Given the description of an element on the screen output the (x, y) to click on. 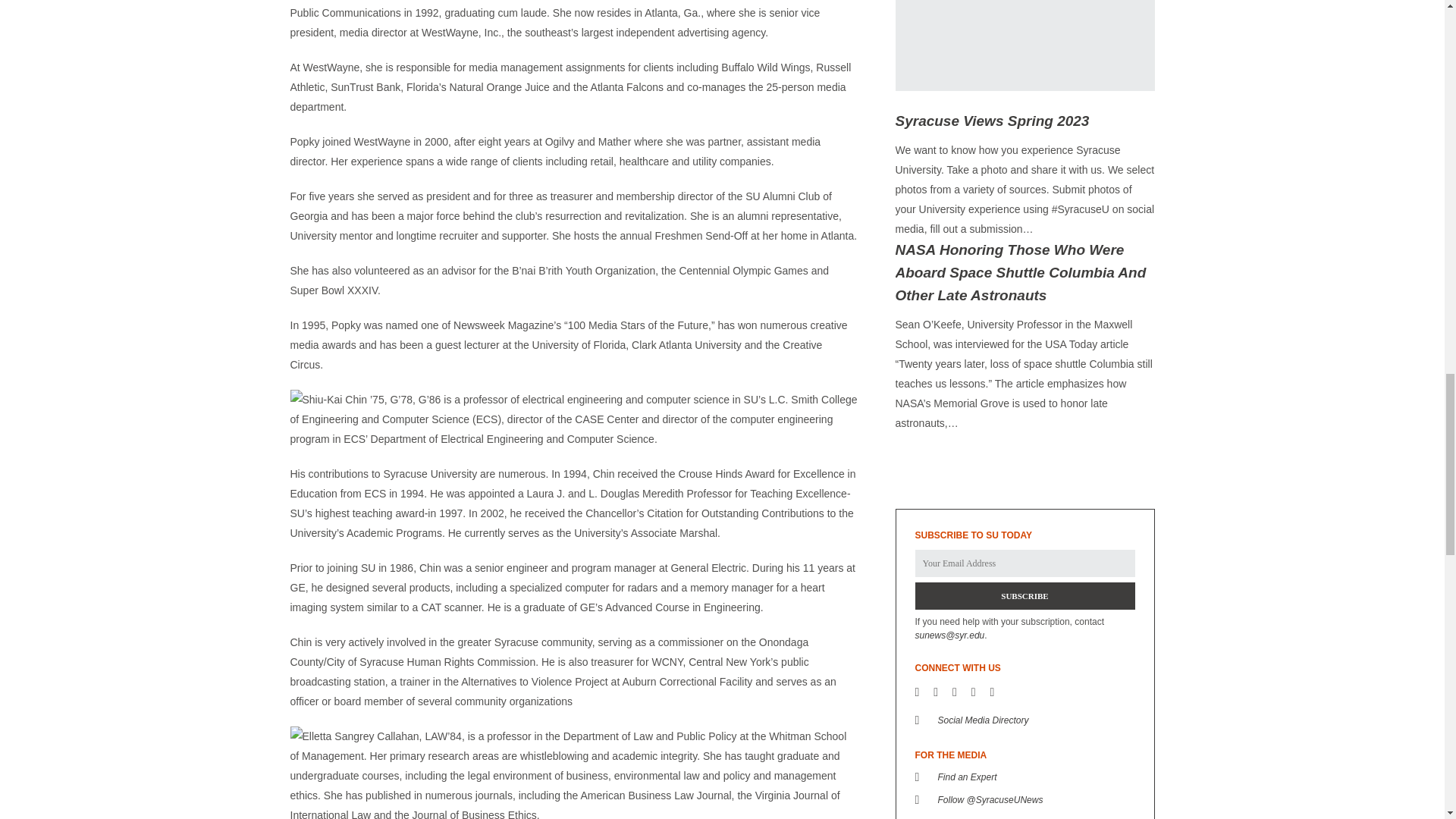
Subscribe (1024, 595)
